Given the description of an element on the screen output the (x, y) to click on. 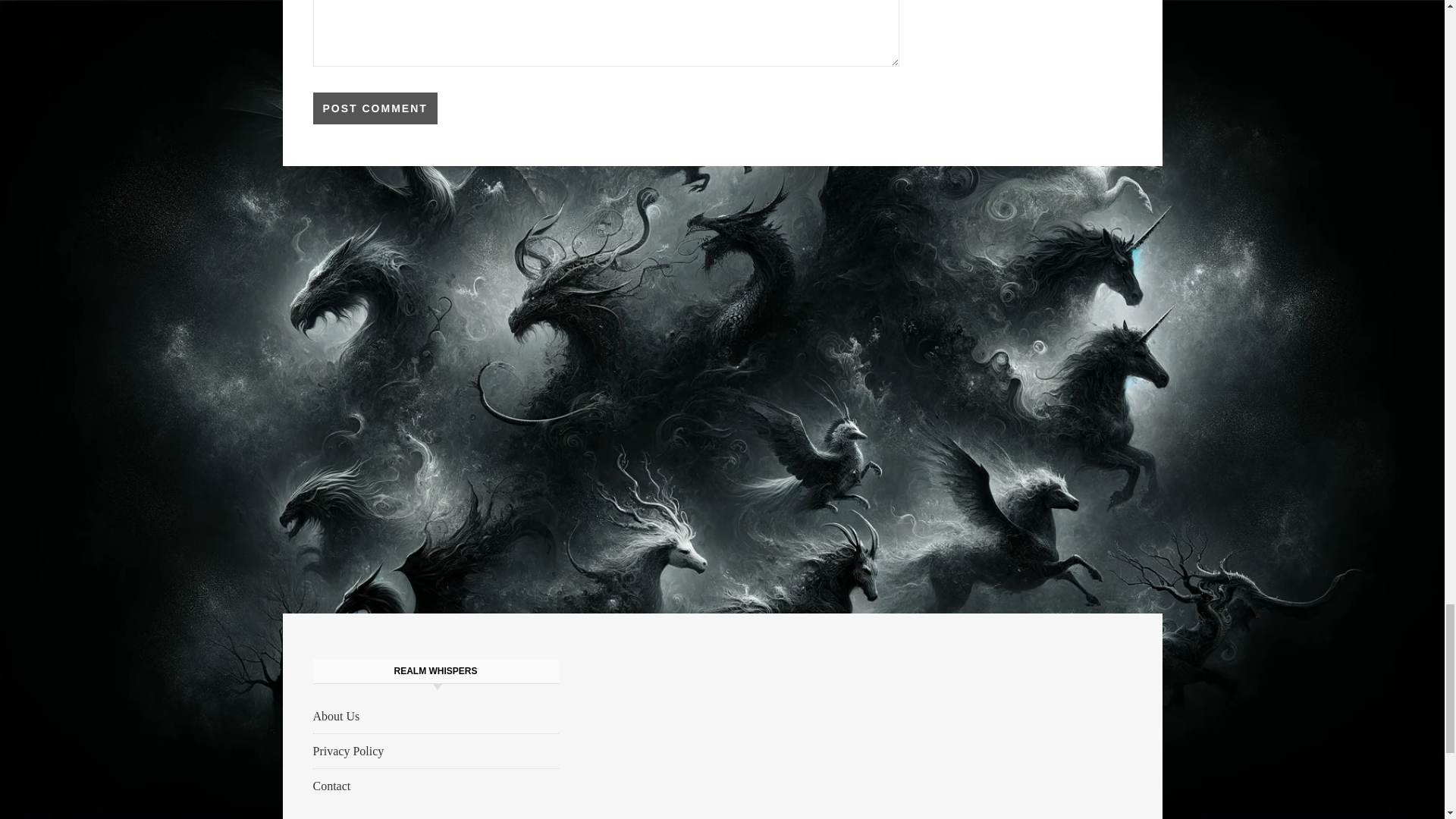
Post Comment (374, 108)
